Given the description of an element on the screen output the (x, y) to click on. 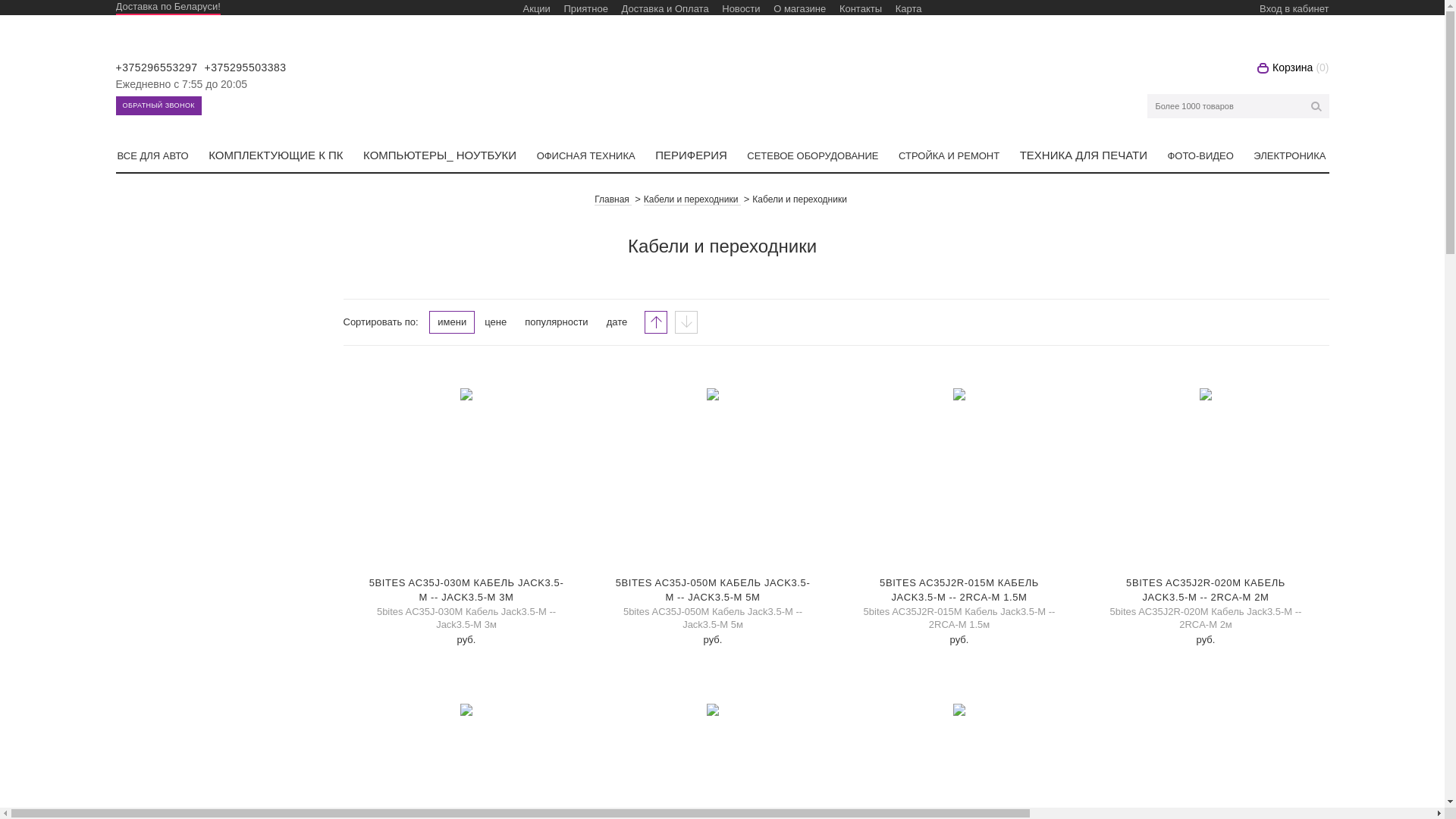
+375296553297 Element type: text (156, 67)
+375295503383 Element type: text (245, 67)
